Given the description of an element on the screen output the (x, y) to click on. 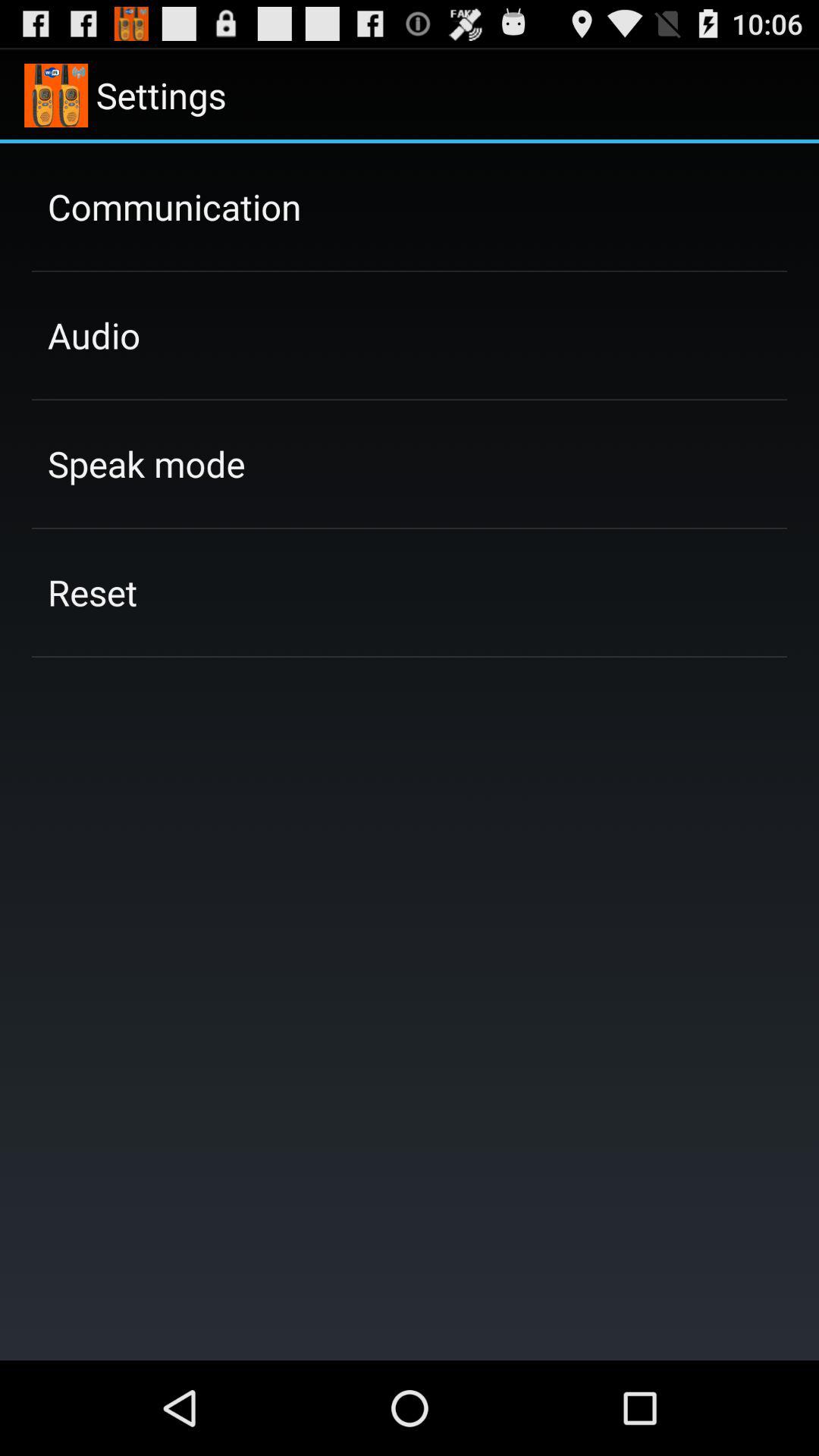
select communication icon (174, 206)
